Given the description of an element on the screen output the (x, y) to click on. 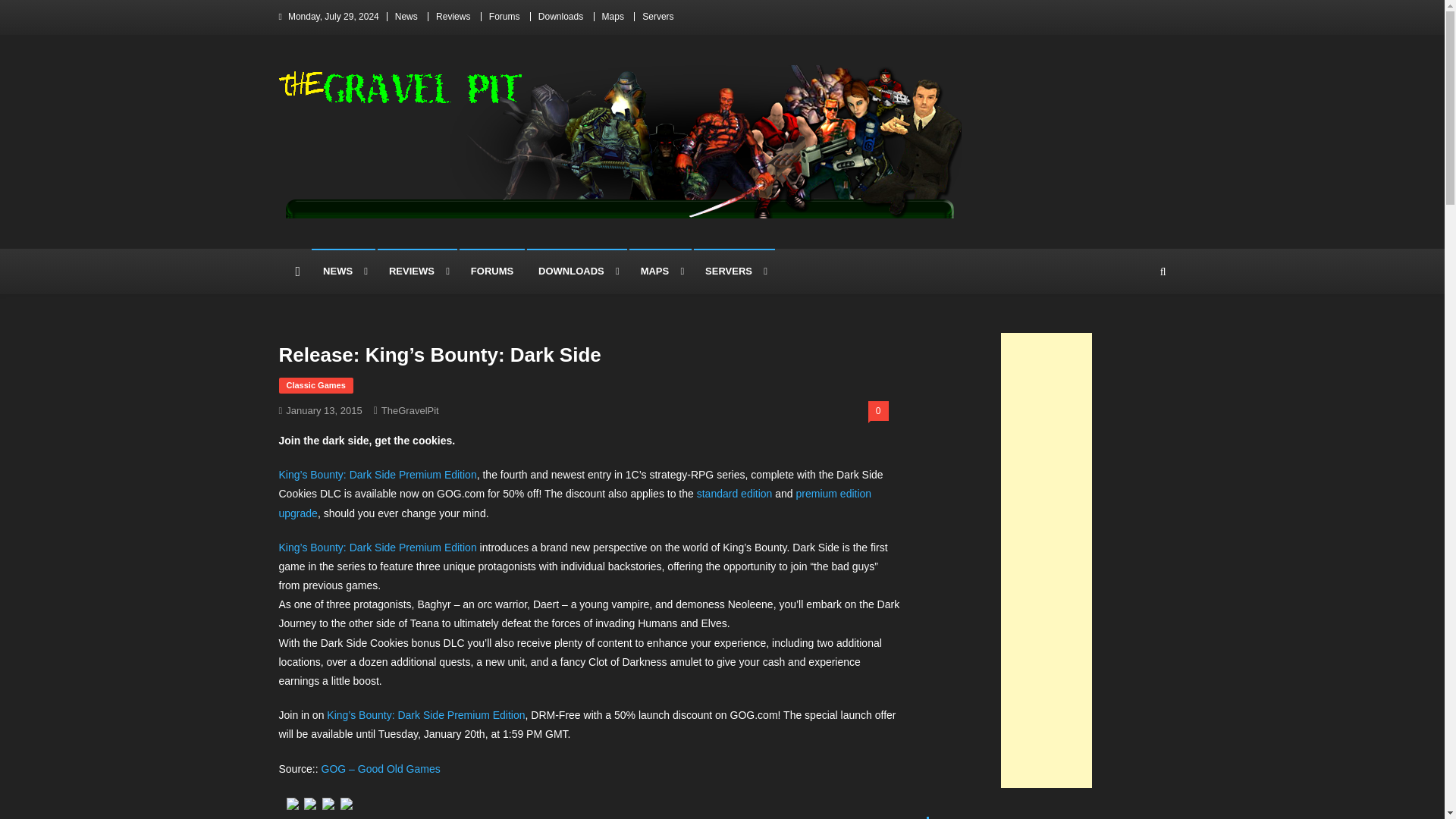
Servers (657, 16)
Reviews (452, 16)
Forums (504, 16)
Maps (613, 16)
News (405, 16)
Release: King's Bounty: Dark Side (381, 768)
Downloads (560, 16)
